Given the description of an element on the screen output the (x, y) to click on. 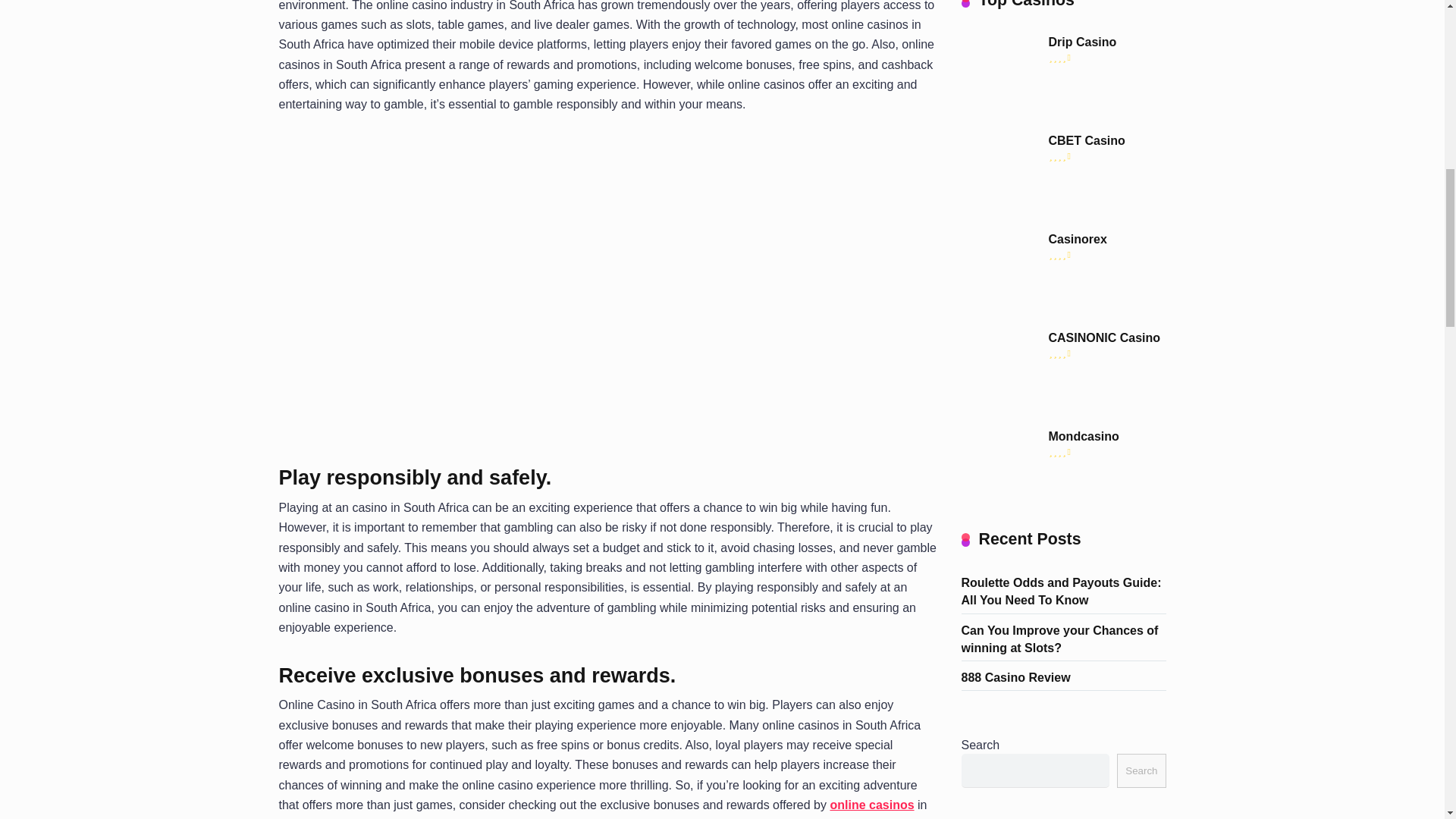
CBET Casino (1086, 141)
Drip Casino (1082, 42)
CBET Casino (998, 205)
Casinorex (1077, 239)
CASINONIC Casino (1104, 337)
Casinorex (998, 303)
Drip Casino (998, 106)
CASINONIC Casino (998, 401)
